Given the description of an element on the screen output the (x, y) to click on. 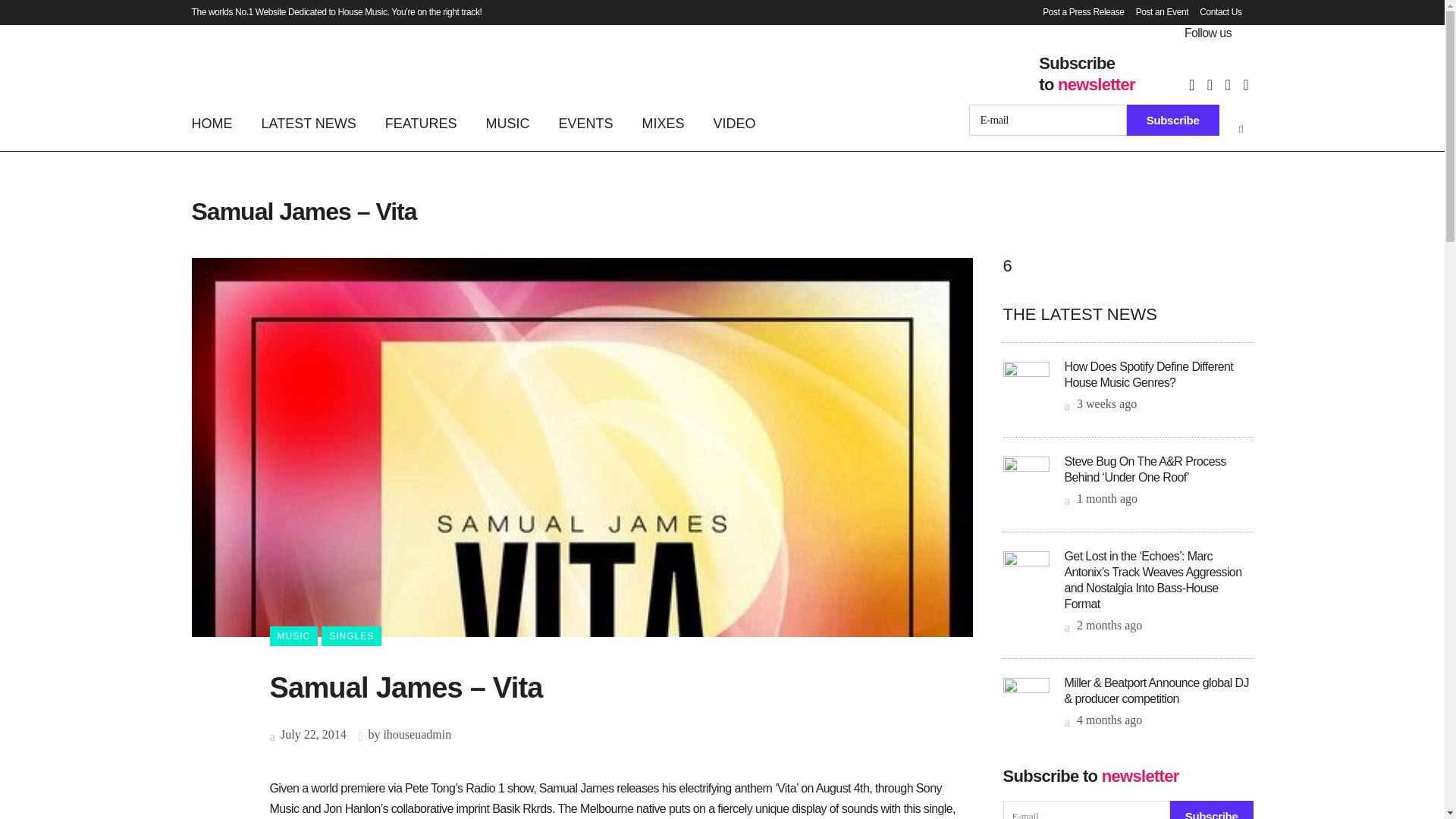
FEATURES (421, 123)
HOME (218, 123)
Subscribe (1173, 119)
Post an Event (1156, 12)
LATEST NEWS (309, 123)
Post a Press Release (1077, 12)
Subscribe (1211, 809)
Contact Us (1214, 12)
E-mail (1086, 809)
E-mail (1047, 119)
